Given the description of an element on the screen output the (x, y) to click on. 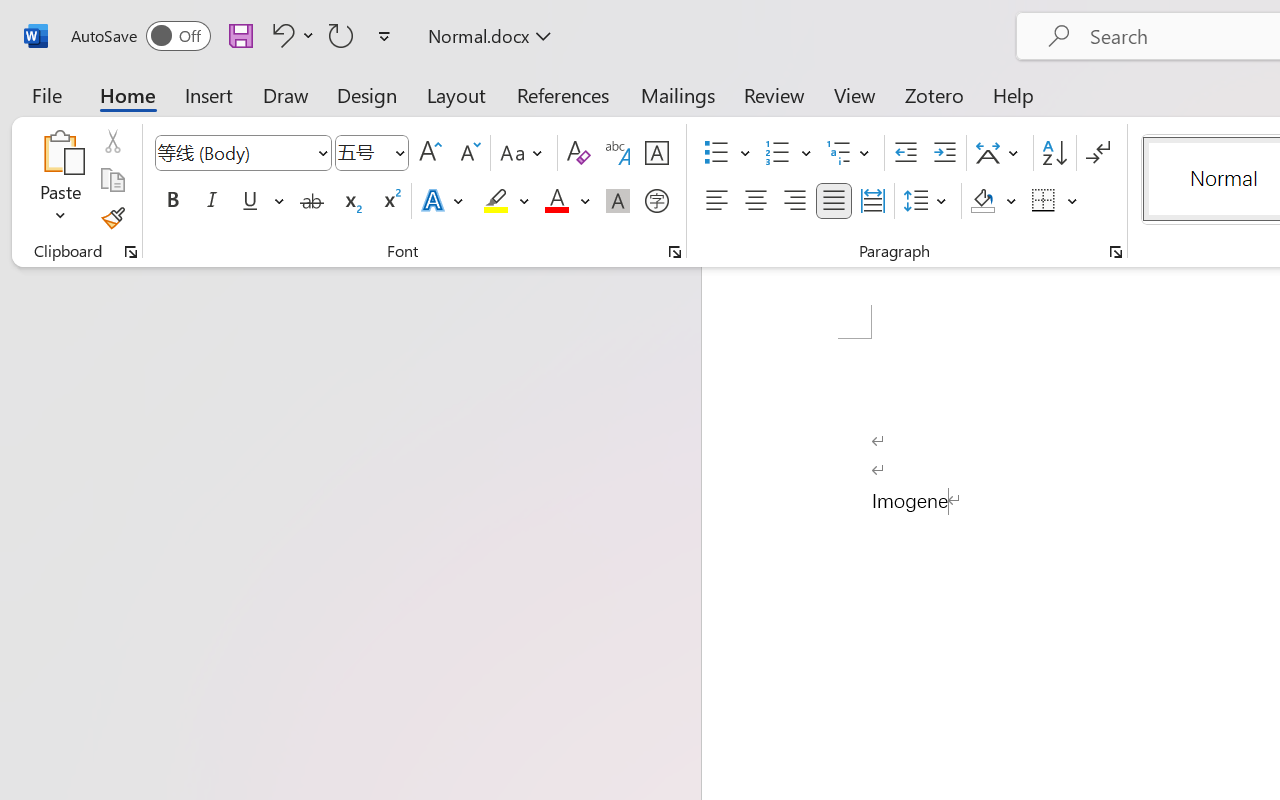
Help (1013, 94)
Character Border (656, 153)
Paragraph... (1115, 252)
Align Left (716, 201)
Align Right (794, 201)
Change Case (524, 153)
Character Shading (618, 201)
Format Painter (112, 218)
